Given the description of an element on the screen output the (x, y) to click on. 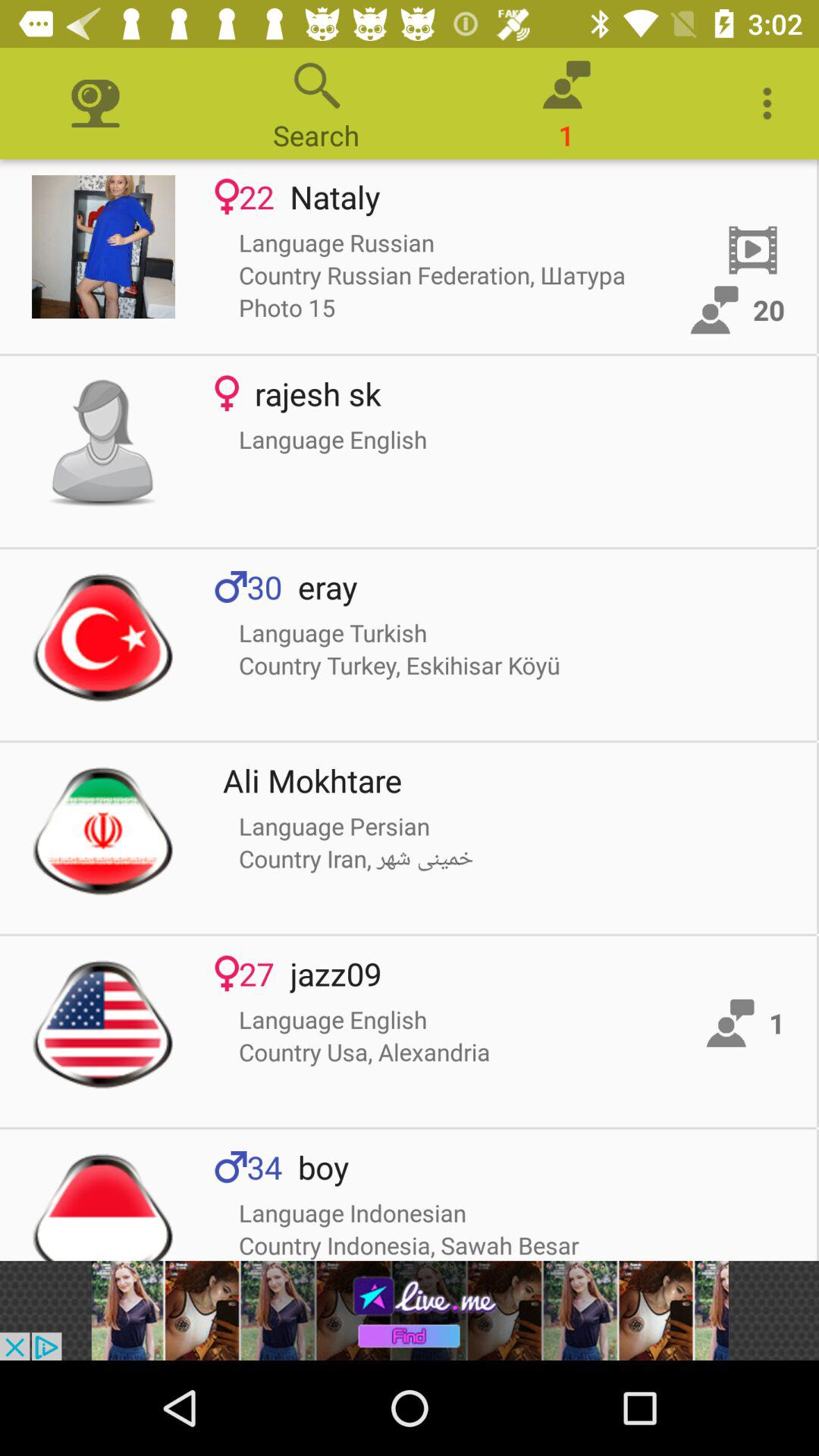
click mail (103, 246)
